Given the description of an element on the screen output the (x, y) to click on. 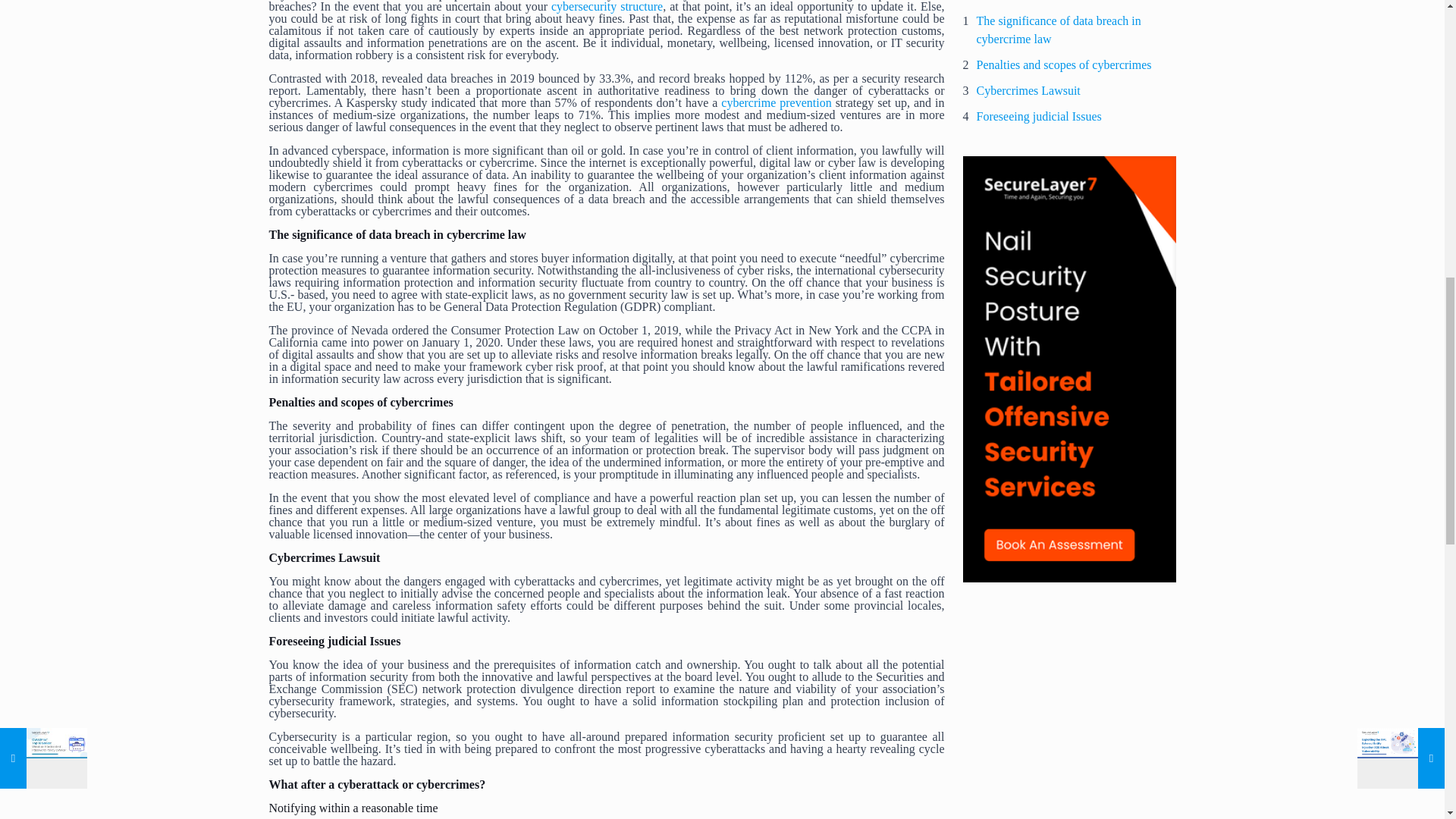
Penalties and scopes of cybercrimes (1063, 65)
Cybercrimes Lawsuit (1028, 90)
Foreseeing judicial Issues (1039, 116)
The significance of data breach in cybercrime law (1076, 30)
